Given the description of an element on the screen output the (x, y) to click on. 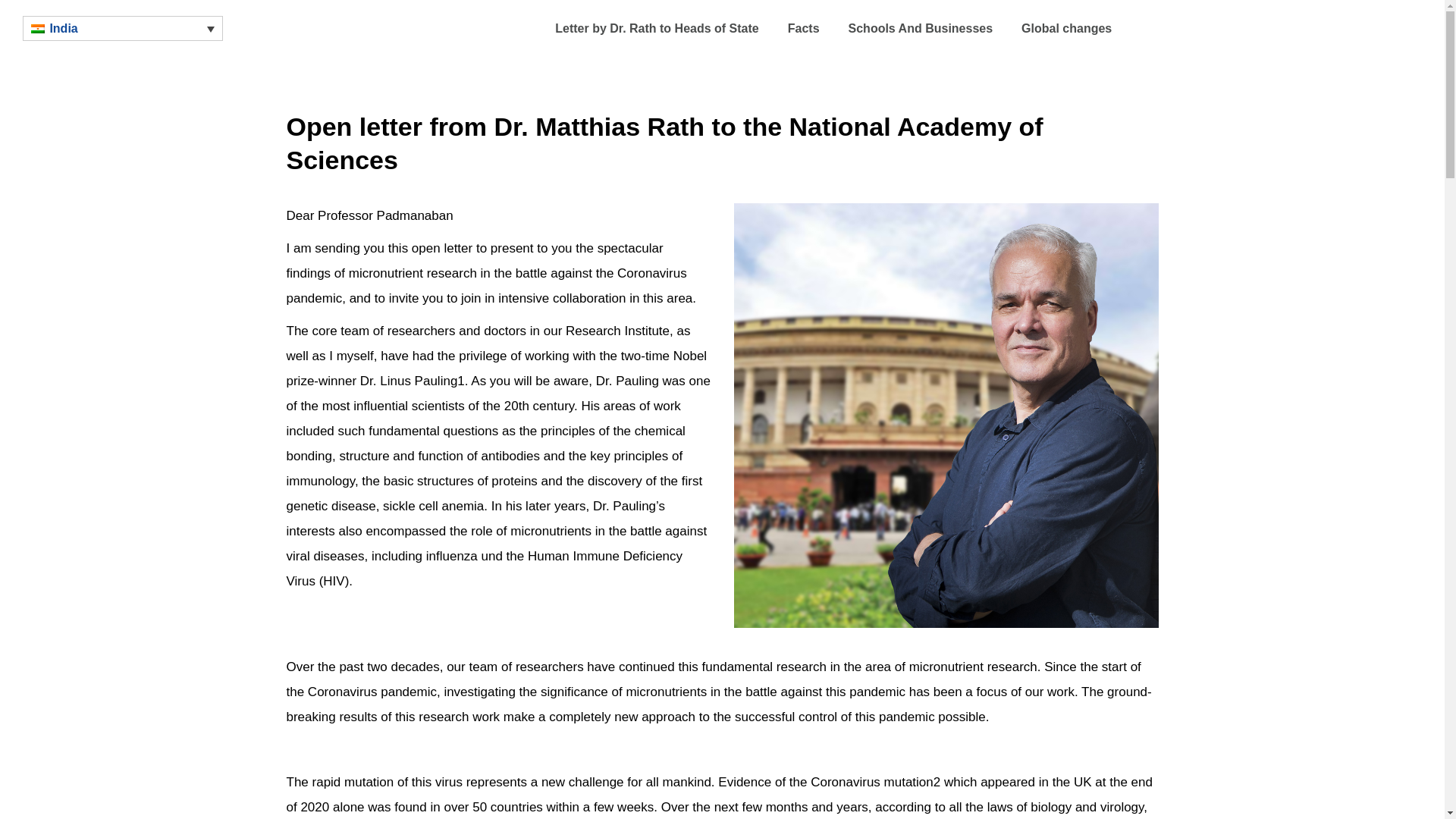
India (122, 27)
Schools And Businesses (920, 28)
Global changes (1066, 28)
Letter by Dr. Rath to Heads of State (656, 28)
